Given the description of an element on the screen output the (x, y) to click on. 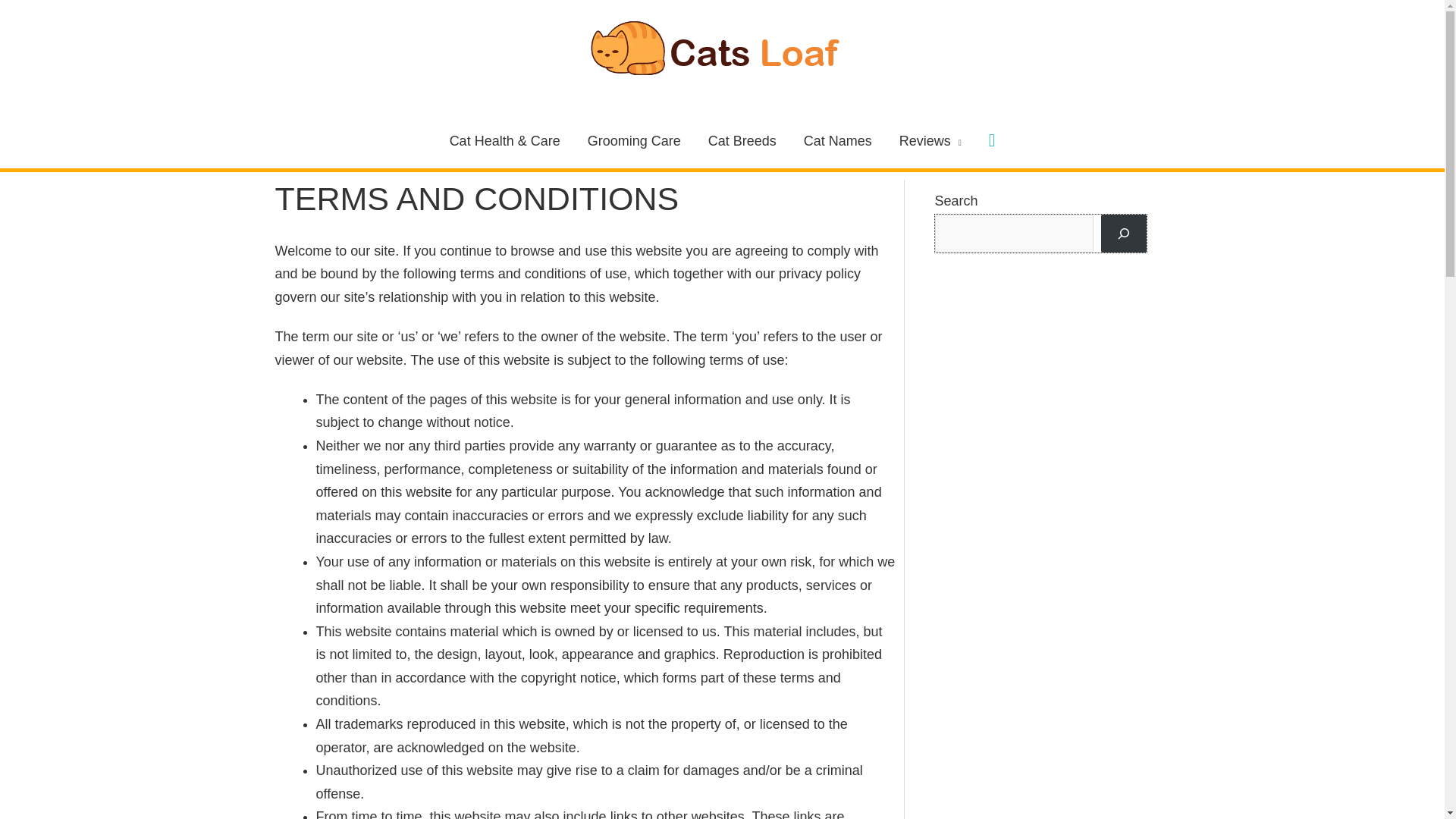
Grooming Care (633, 140)
Cat Names (837, 140)
Reviews (930, 140)
Cat Breeds (742, 140)
